Given the description of an element on the screen output the (x, y) to click on. 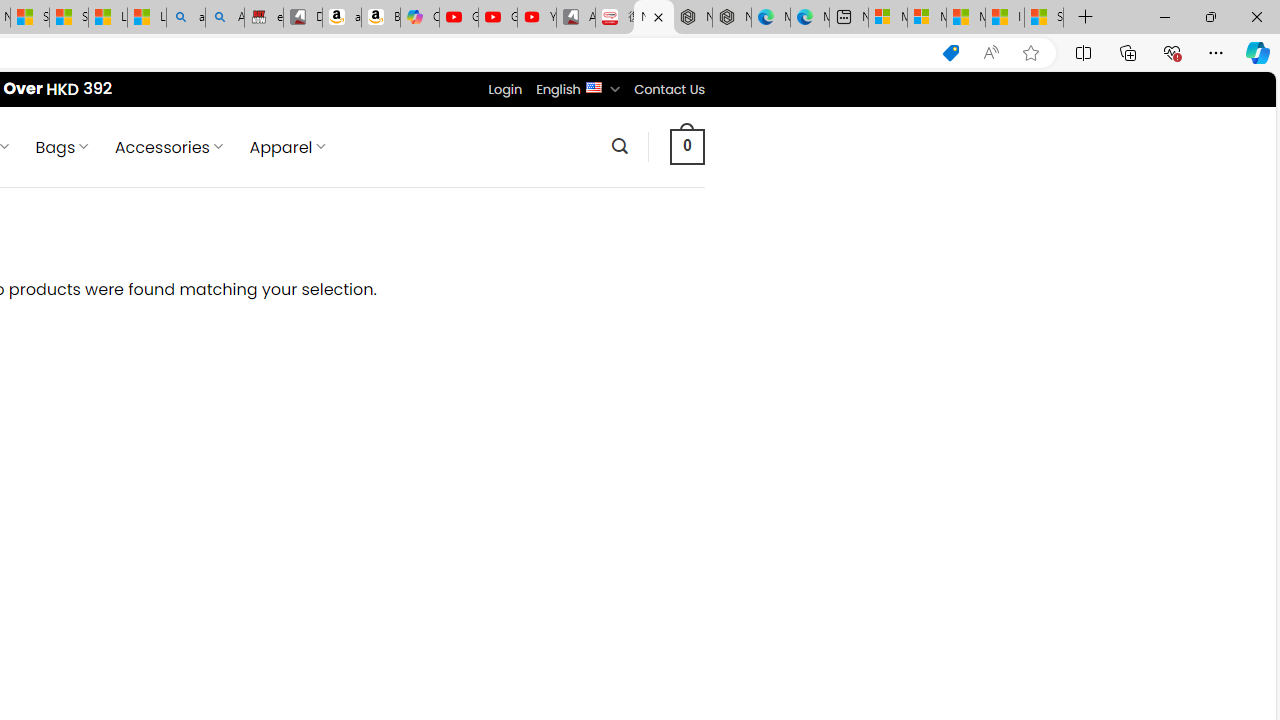
Nordace - Nordace has arrived Hong Kong (732, 17)
Contact Us (669, 89)
Close (1256, 16)
Nordace - Luggage (653, 17)
All Cubot phones (575, 17)
I Gained 20 Pounds of Muscle in 30 Days! | Watch (1004, 17)
Add this page to favorites (Ctrl+D) (1030, 53)
